Given the description of an element on the screen output the (x, y) to click on. 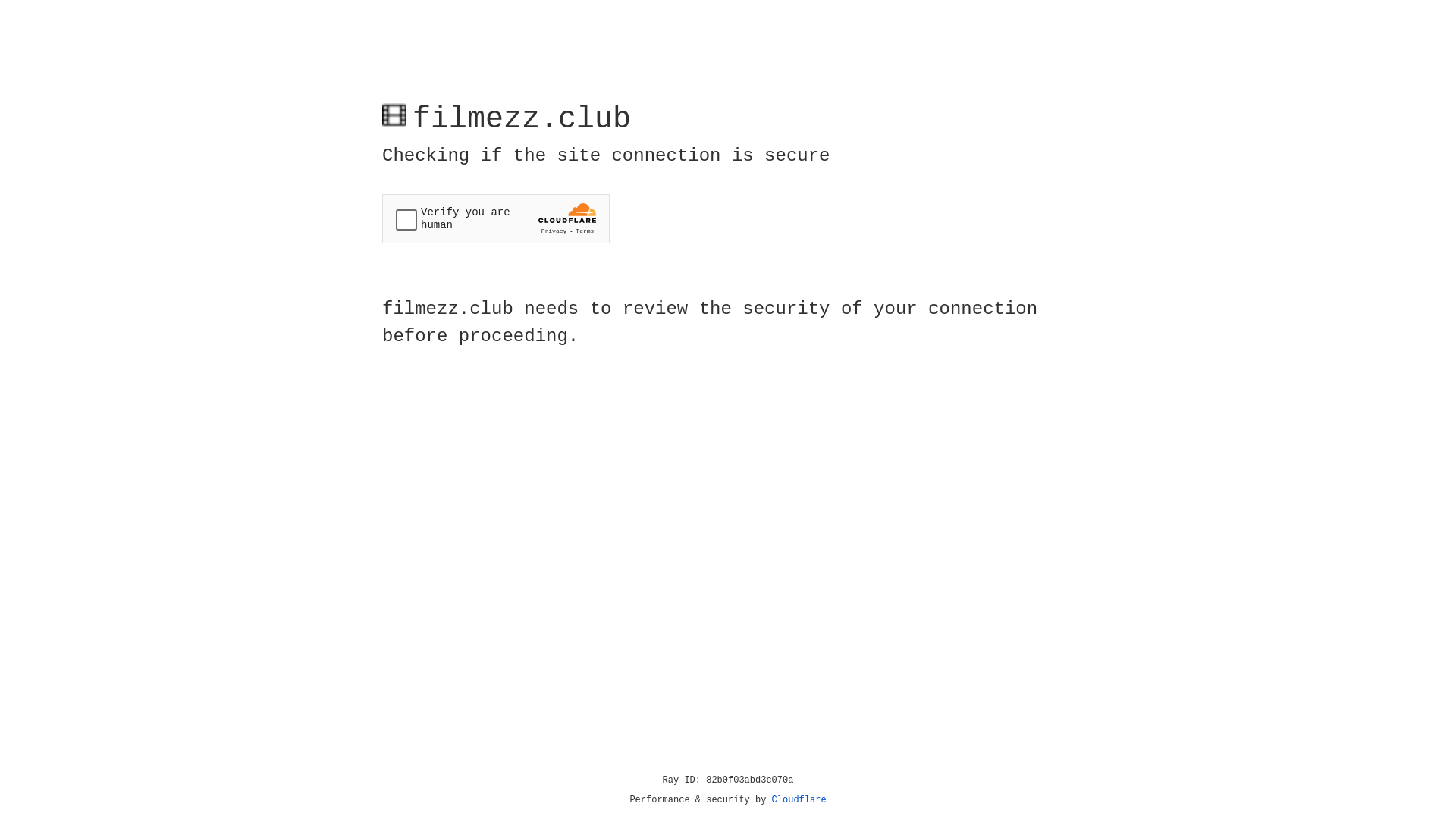
Cloudflare Element type: text (798, 799)
Widget containing a Cloudflare security challenge Element type: hover (495, 218)
